Given the description of an element on the screen output the (x, y) to click on. 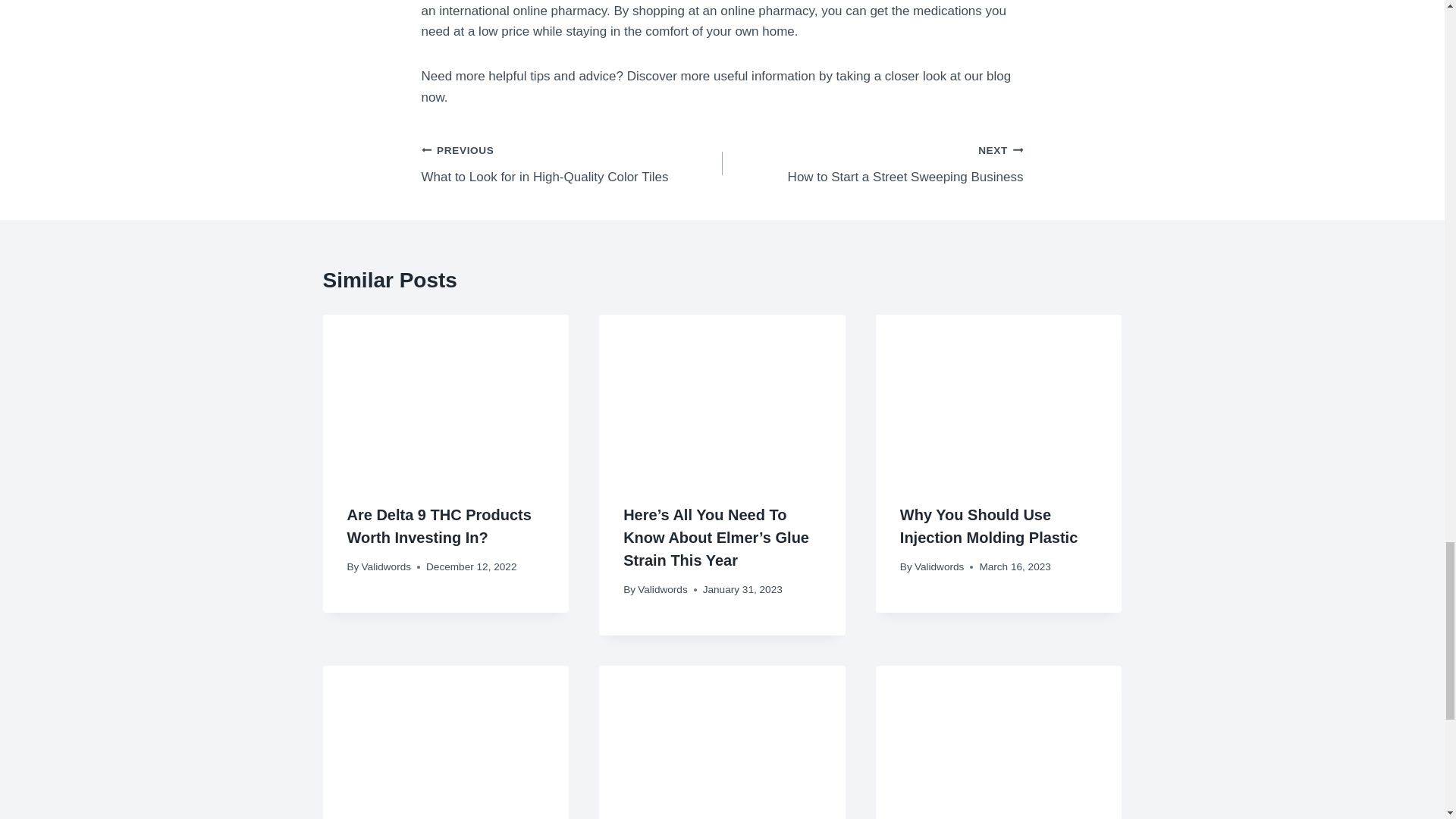
Validwords (662, 589)
Why You Should Use Injection Molding Plastic 7 (999, 396)
The Best Mental Health Tips for College Students 8 (872, 163)
Are Delta 9 THC Products Worth Investing In? 2 (446, 742)
Are Delta 9 THC Products Worth Investing In? (446, 396)
Validwords (439, 526)
5 Key Benefits of Assisted Living for Seniors 9 (385, 566)
